Given the description of an element on the screen output the (x, y) to click on. 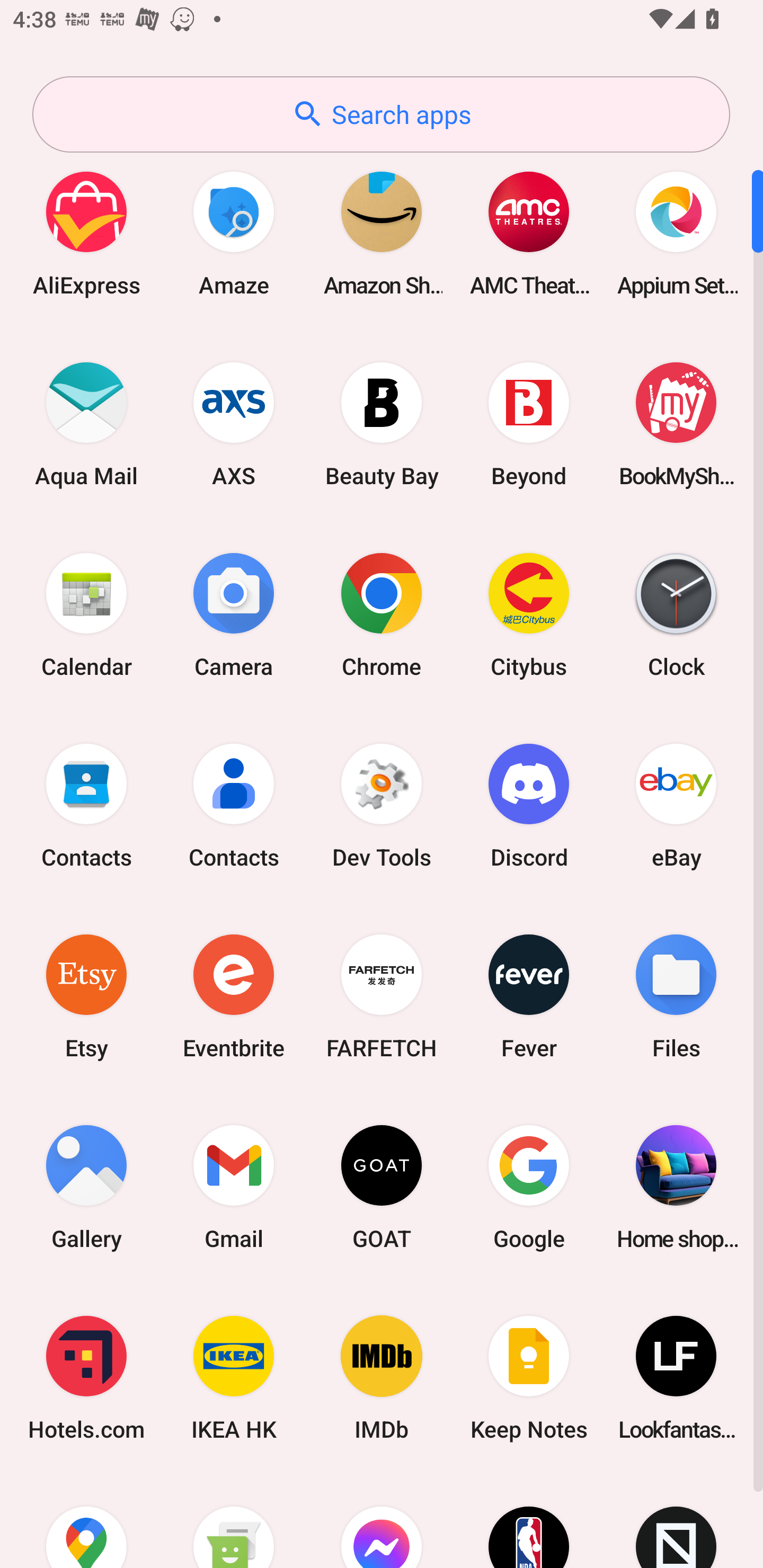
  Search apps (381, 114)
AliExpress (86, 233)
Amaze (233, 233)
Amazon Shopping (381, 233)
AMC Theatres (528, 233)
Appium Settings (676, 233)
Aqua Mail (86, 424)
AXS (233, 424)
Beauty Bay (381, 424)
Beyond (528, 424)
BookMyShow (676, 424)
Calendar (86, 614)
Camera (233, 614)
Chrome (381, 614)
Citybus (528, 614)
Clock (676, 614)
Contacts (86, 805)
Contacts (233, 805)
Dev Tools (381, 805)
Discord (528, 805)
eBay (676, 805)
Etsy (86, 996)
Eventbrite (233, 996)
FARFETCH (381, 996)
Fever (528, 996)
Files (676, 996)
Gallery (86, 1186)
Gmail (233, 1186)
GOAT (381, 1186)
Google (528, 1186)
Home shopping (676, 1186)
Hotels.com (86, 1377)
IKEA HK (233, 1377)
IMDb (381, 1377)
Keep Notes (528, 1377)
Lookfantastic (676, 1377)
Maps (86, 1520)
Messaging (233, 1520)
Messenger (381, 1520)
NBA (528, 1520)
Novelship (676, 1520)
